Given the description of an element on the screen output the (x, y) to click on. 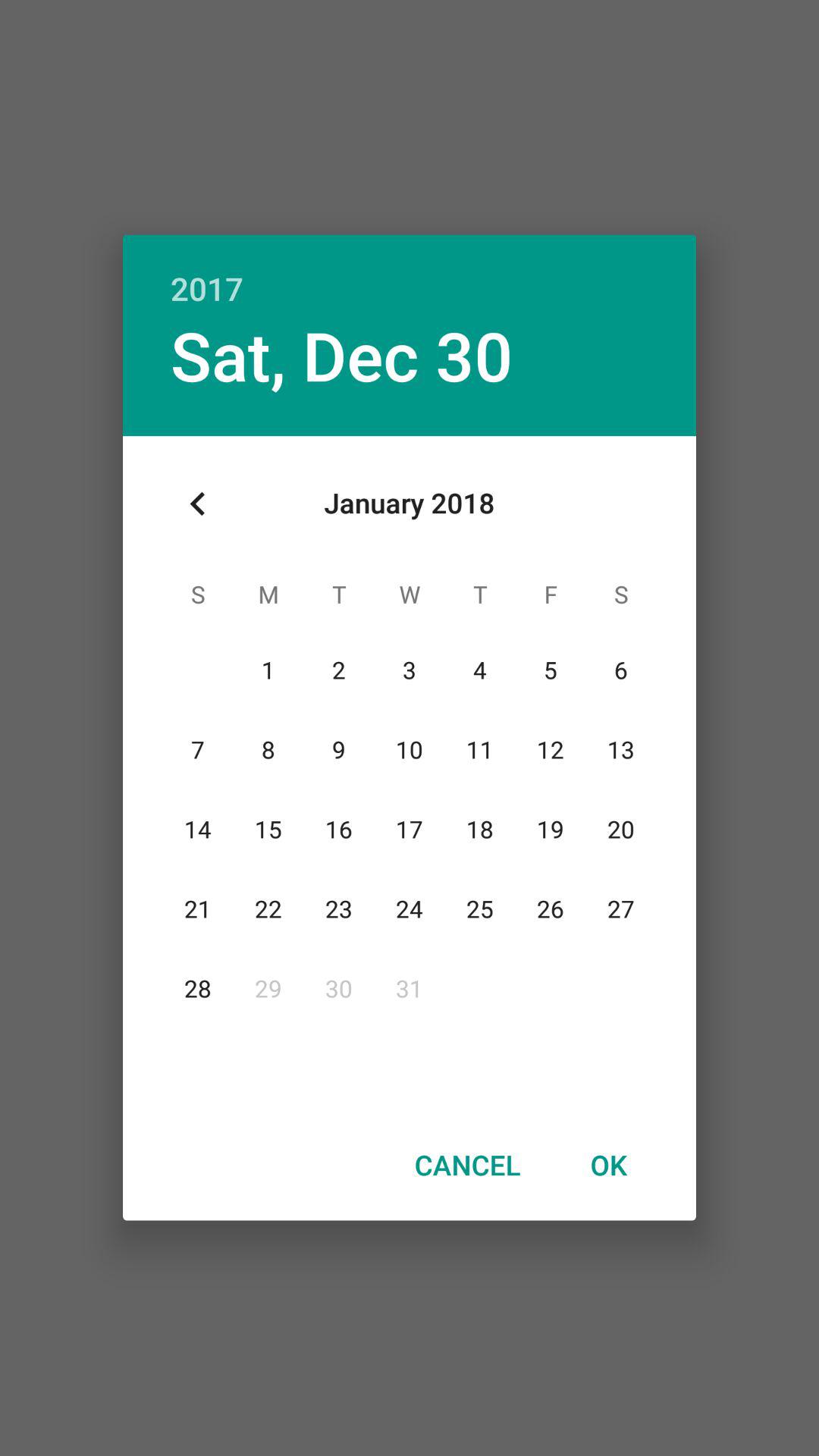
click ok (608, 1164)
